Given the description of an element on the screen output the (x, y) to click on. 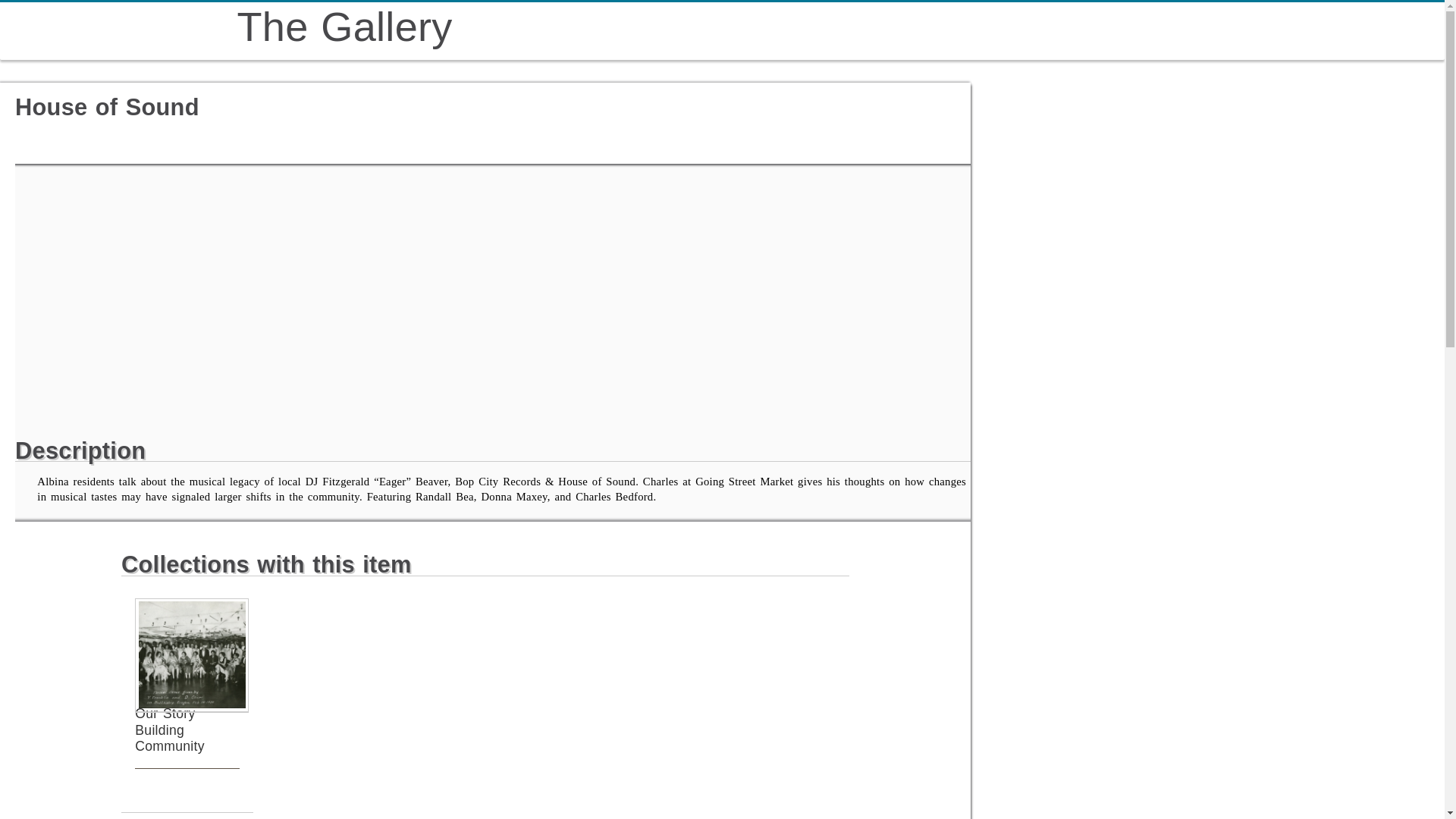
House of Sound (84, 200)
The Gallery (343, 26)
House of Sound (249, 295)
Our Story Building Community (169, 728)
Home page (343, 26)
